Given the description of an element on the screen output the (x, y) to click on. 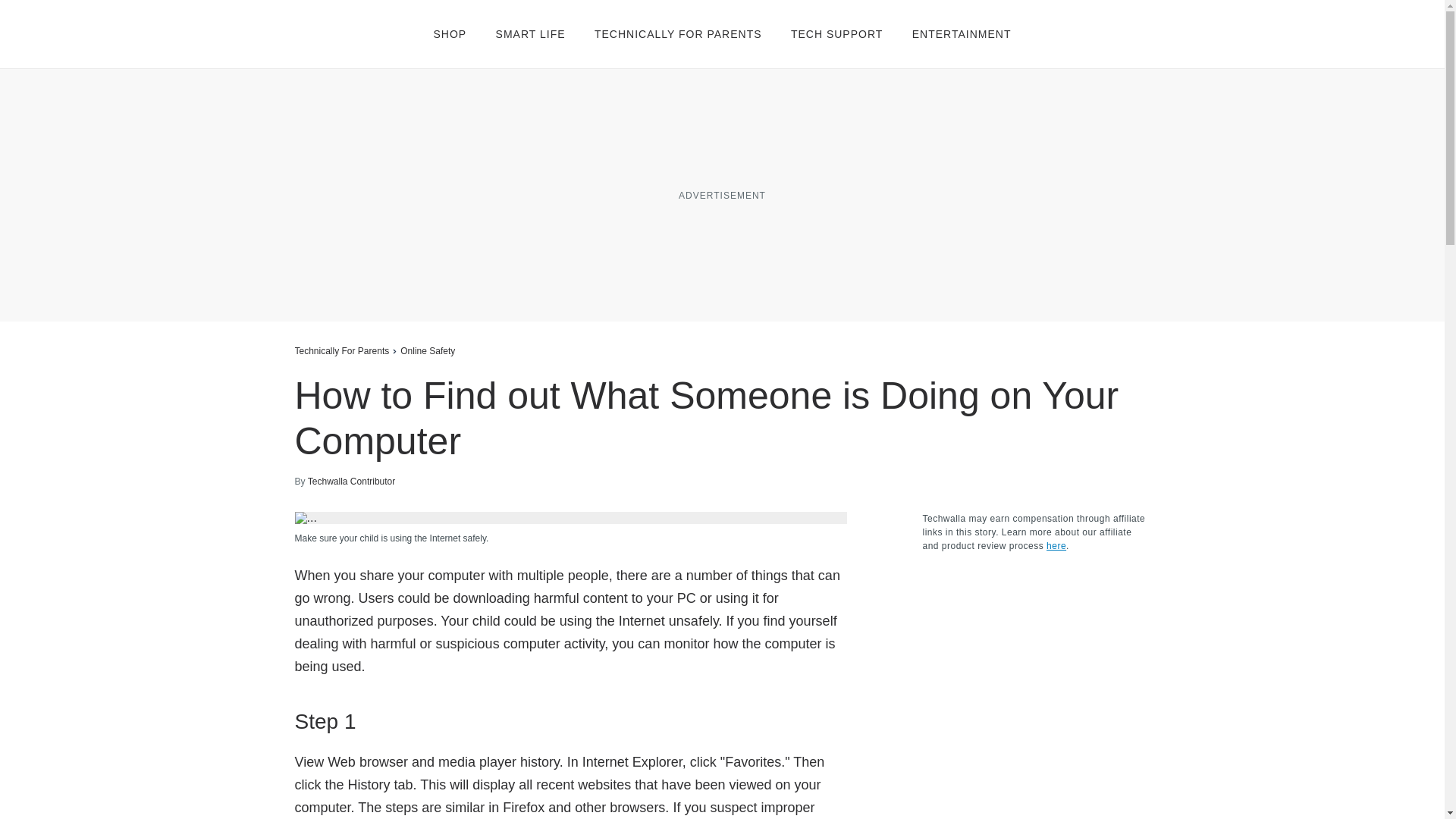
Learn more about our affiliate and product review process (1055, 545)
Technically For Parents (341, 350)
here (1055, 545)
Online Safety (427, 350)
